Given the description of an element on the screen output the (x, y) to click on. 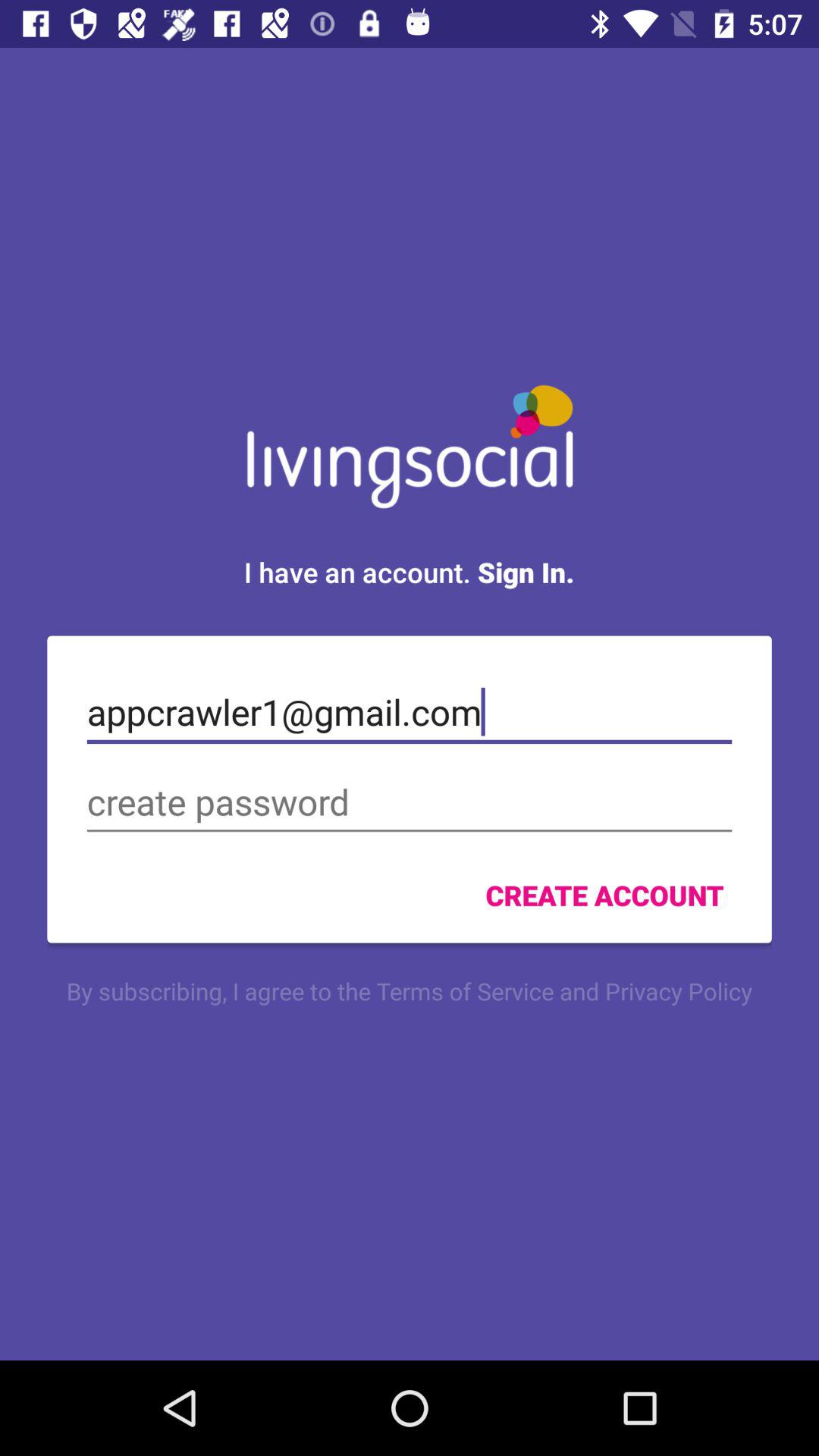
jump to the appcrawler1@gmail.com icon (409, 712)
